Given the description of an element on the screen output the (x, y) to click on. 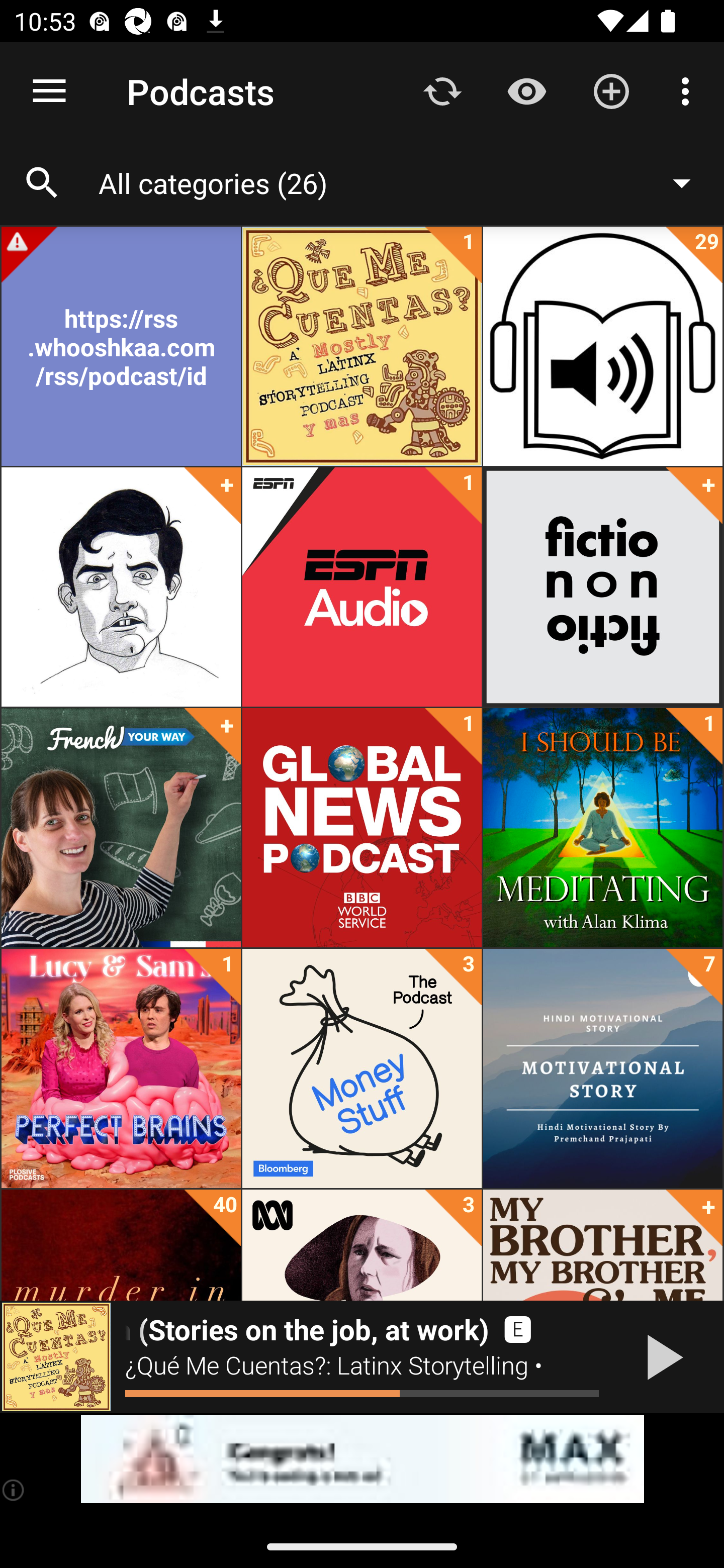
Open navigation sidebar (49, 91)
Update (442, 90)
Show / Hide played content (526, 90)
Add new Podcast (611, 90)
More options (688, 90)
Search (42, 183)
All categories (26) (404, 182)
https://rss.whooshkaa.com/rss/podcast/id/5884 (121, 346)
¿Qué Me Cuentas?: Latinx Storytelling 1 (361, 346)
Audiobooks 29 (602, 346)
Cooking Issues with Dave Arnold + (121, 587)
ESPN Audio 1 (361, 587)
fiction/non/fiction + (602, 587)
Global News Podcast 1 (361, 827)
Lucy & Sam's Perfect Brains 1 (121, 1068)
Money Stuff: The Podcast 3 (361, 1068)
Play / Pause (660, 1356)
app-monetization (362, 1459)
(i) (14, 1489)
